Given the description of an element on the screen output the (x, y) to click on. 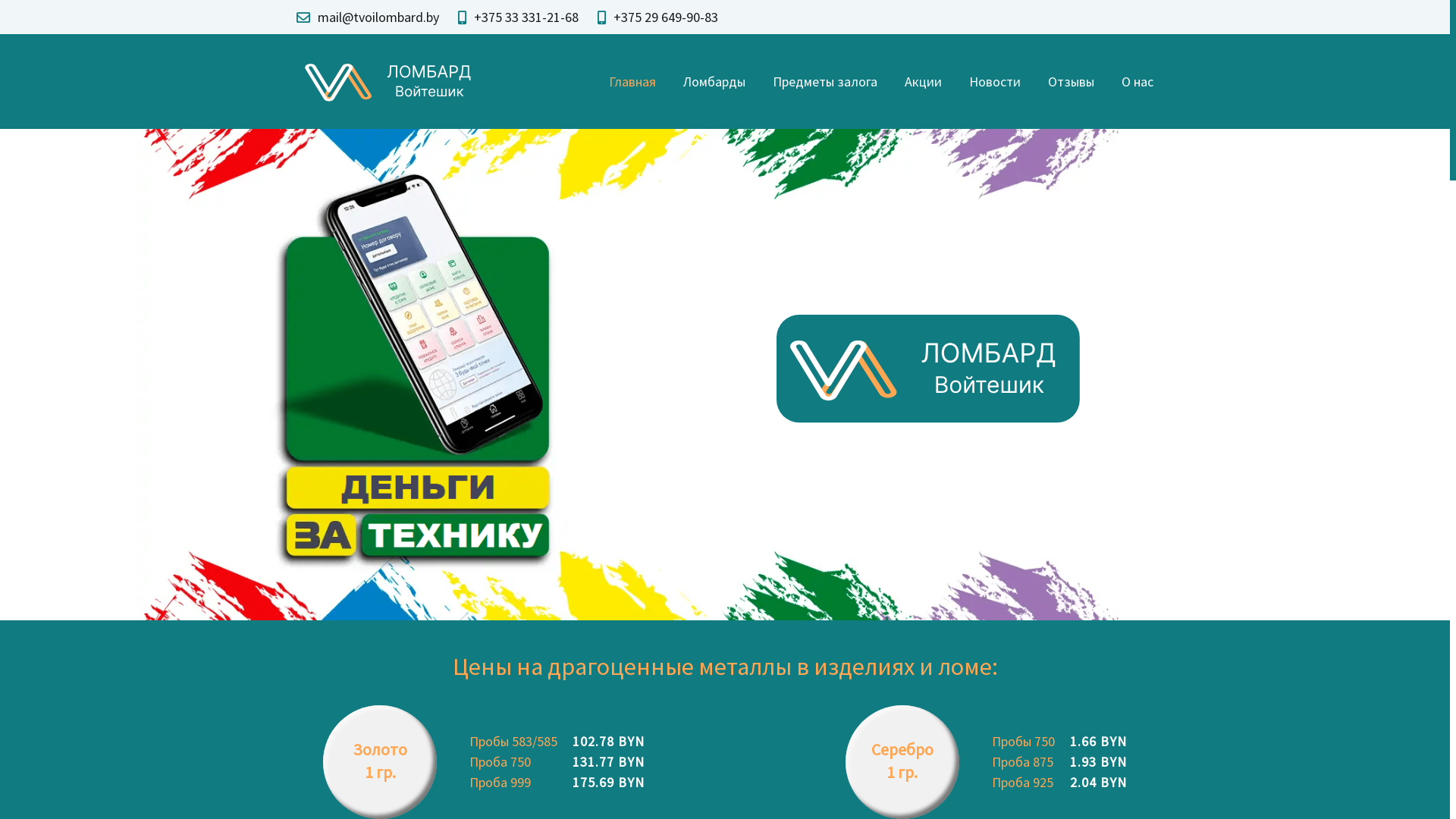
+375 29 649-90-83 Element type: text (665, 16)
+375 33 331-21-68 Element type: text (525, 16)
mail@tvoilombard.by Element type: text (378, 16)
